Given the description of an element on the screen output the (x, y) to click on. 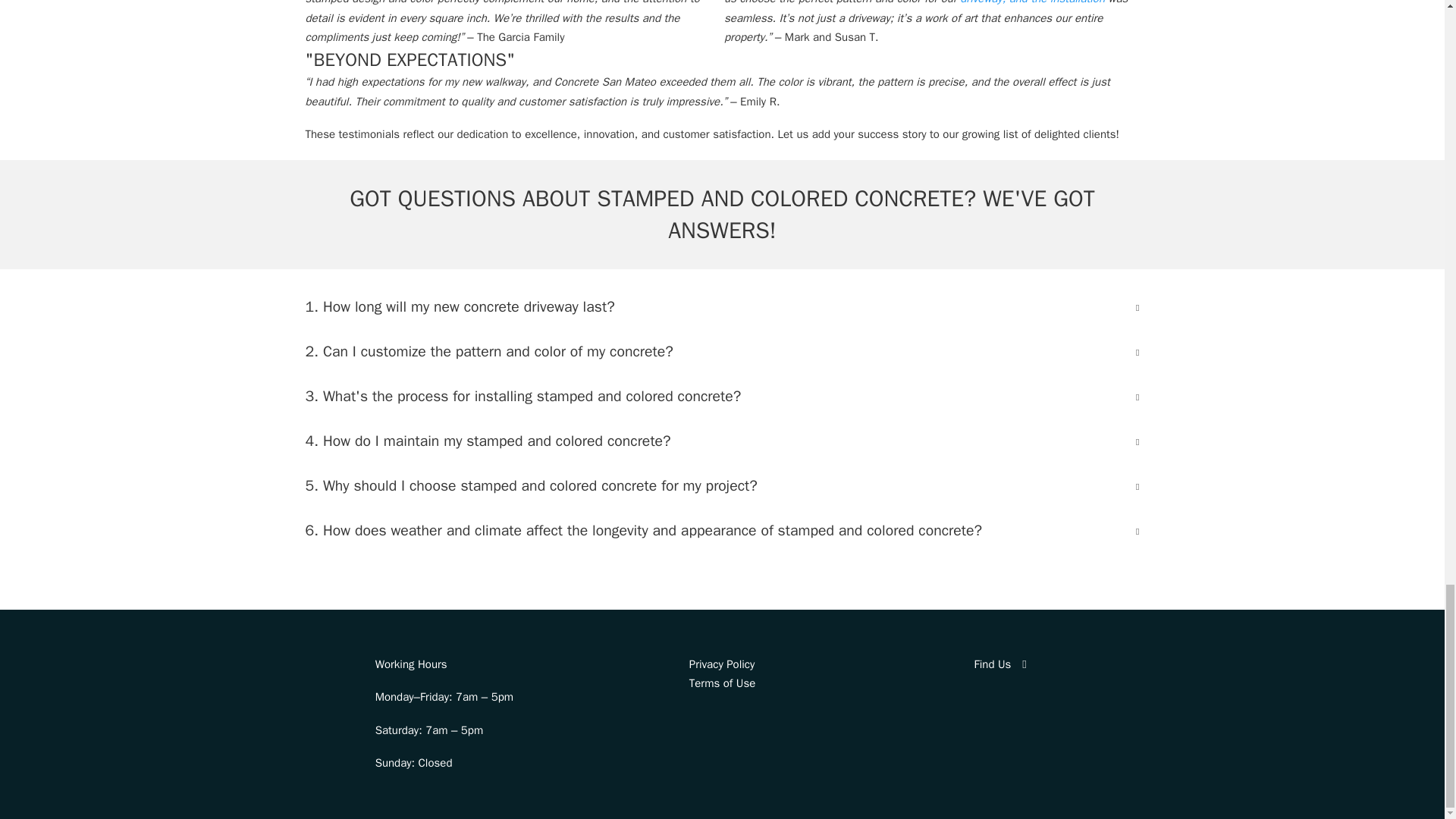
driveway, and the installation (1032, 2)
Privacy Policy (721, 663)
Terms of Use (721, 683)
